Given the description of an element on the screen output the (x, y) to click on. 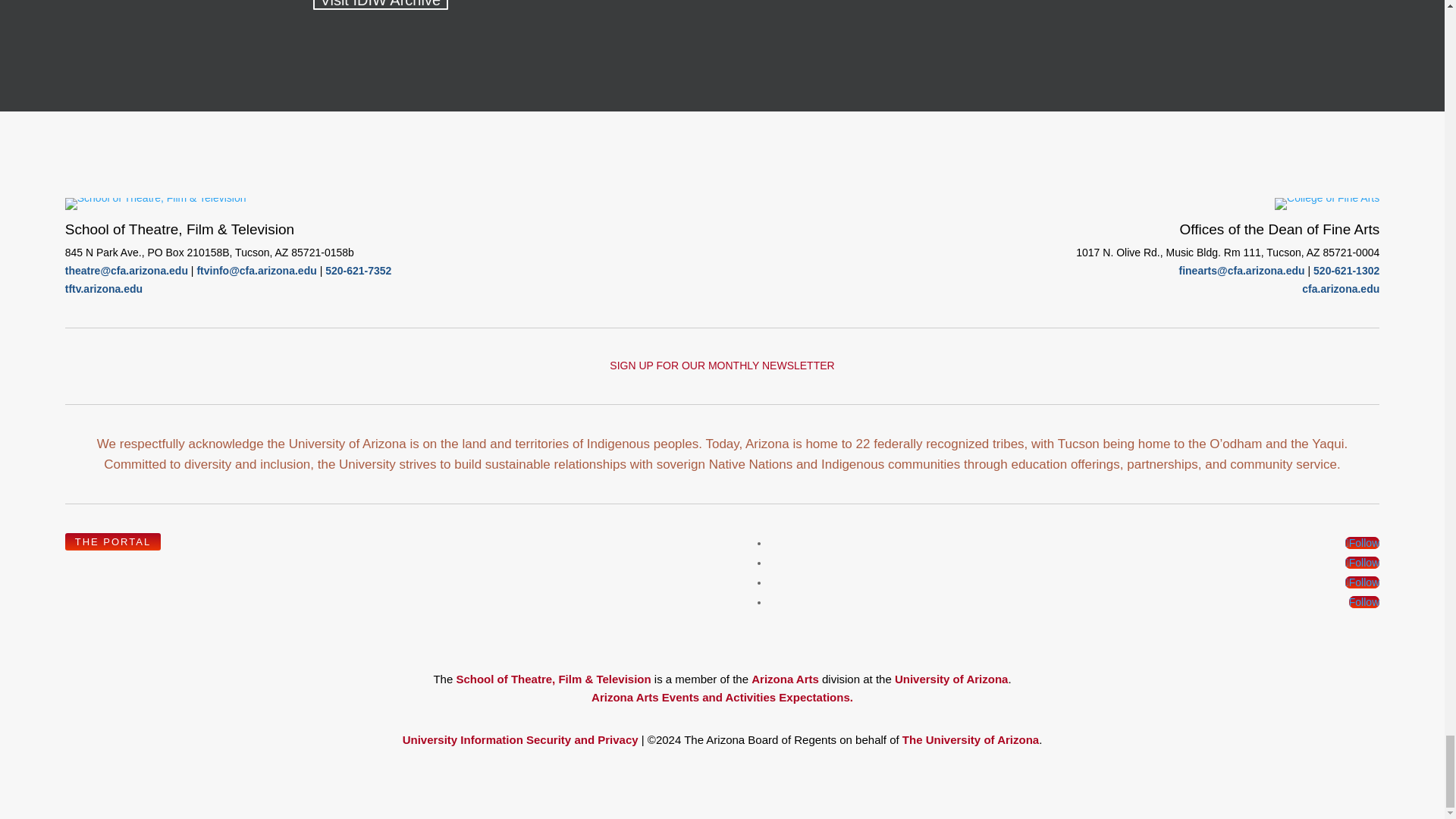
tftv.arizona.edu (103, 288)
Follow on X (1362, 562)
Follow on Facebook (1362, 542)
cfa.arizona.edu (1339, 288)
520-621-7352 (357, 270)
Follow on Instagram (1362, 582)
Follow on Youtube (1363, 602)
Visit IDIW Archive (380, 4)
SIGN UP FOR OUR MONTHLY NEWSLETTER (722, 365)
520-621-1302 (1345, 270)
